Given the description of an element on the screen output the (x, y) to click on. 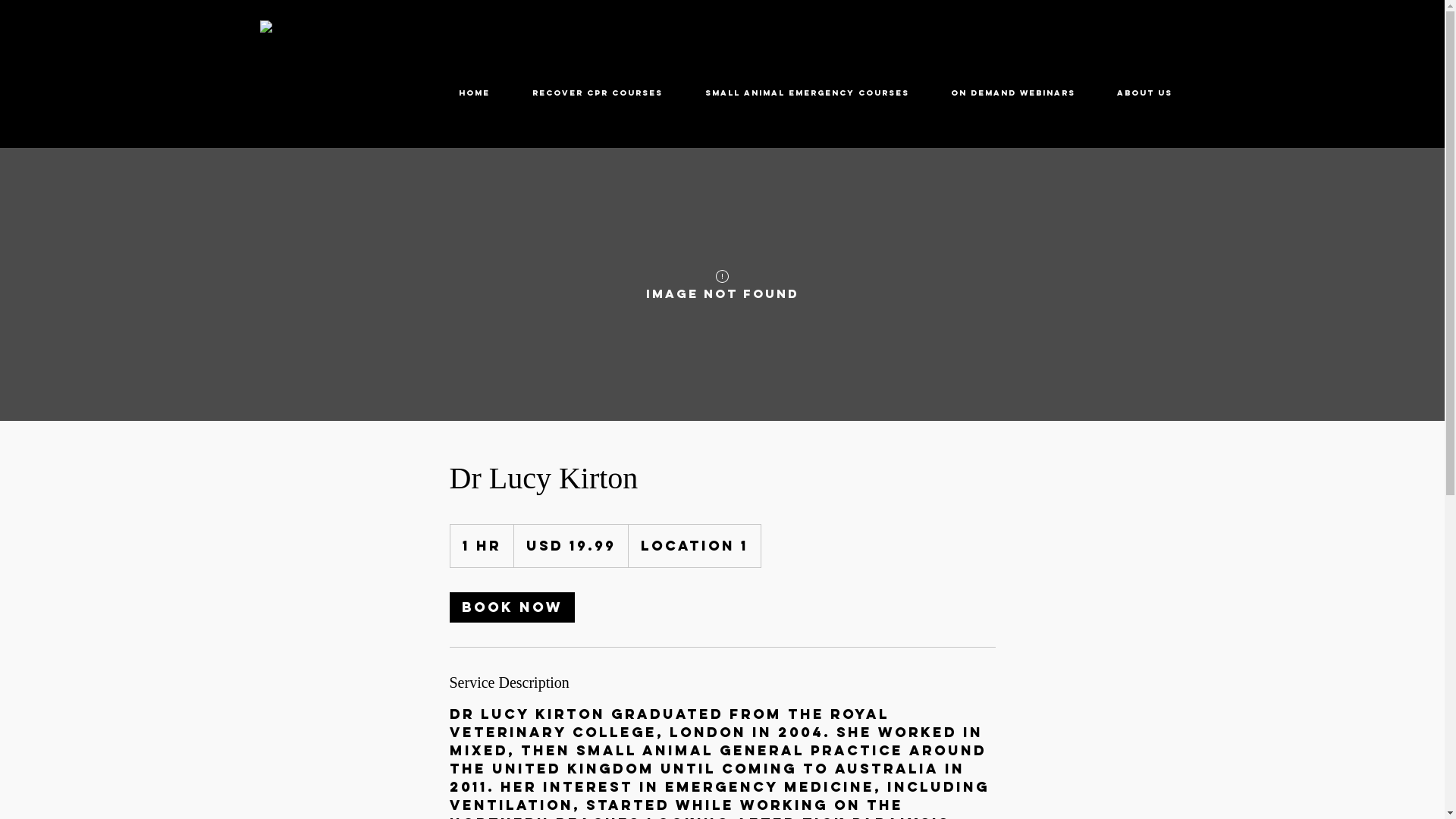
On Demand Webinars Element type: text (1012, 92)
Small Animal Emergency Courses Element type: text (807, 92)
Recover CPR Courses Element type: text (597, 92)
Home Element type: text (473, 92)
About Us Element type: text (1144, 92)
Book Now Element type: text (511, 607)
